Given the description of an element on the screen output the (x, y) to click on. 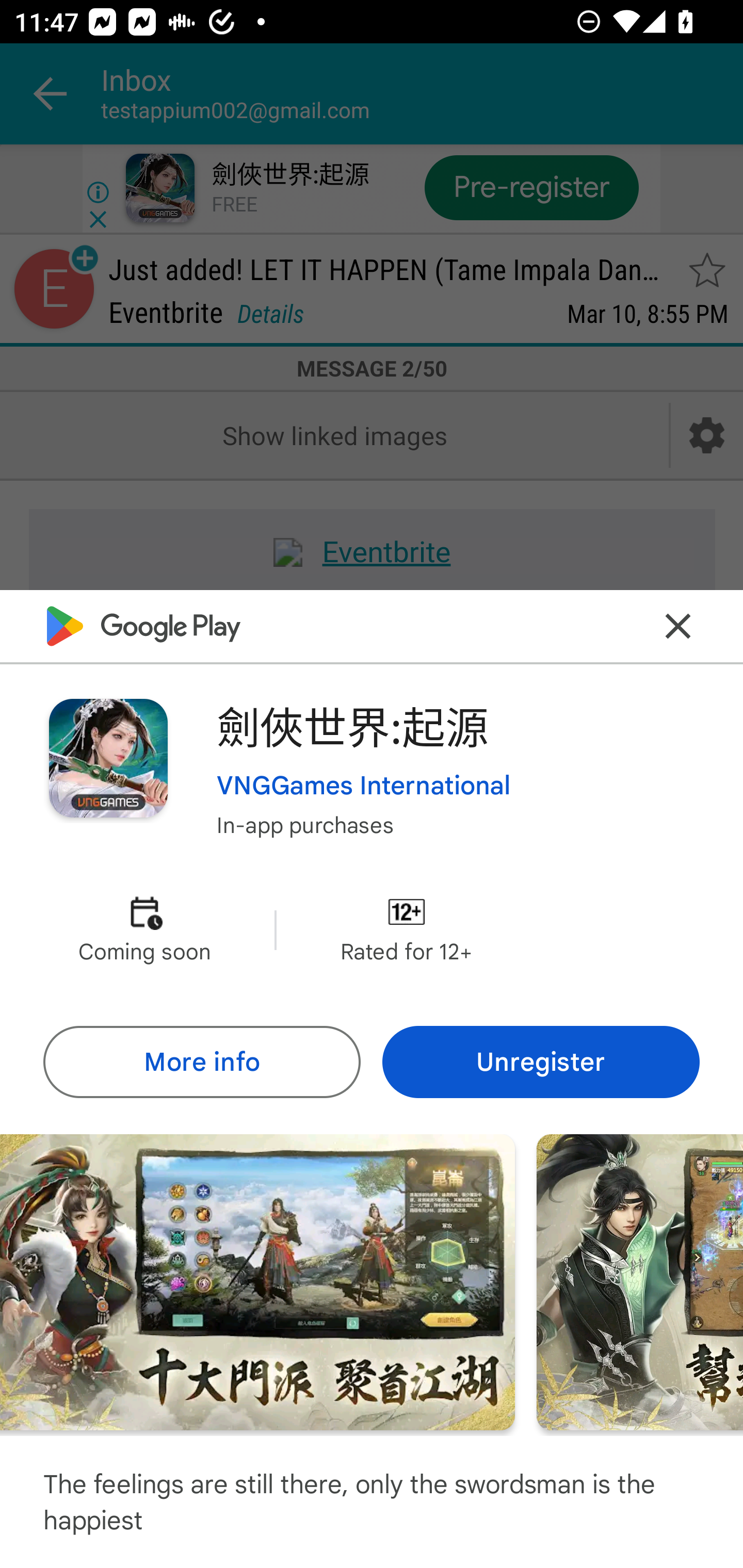
Close (677, 625)
Image of app or game icon for 劍俠世界:起源 (108, 758)
VNGGames International (363, 784)
More info (201, 1061)
Unregister (540, 1061)
Screenshot "3" of "5" (257, 1281)
